Given the description of an element on the screen output the (x, y) to click on. 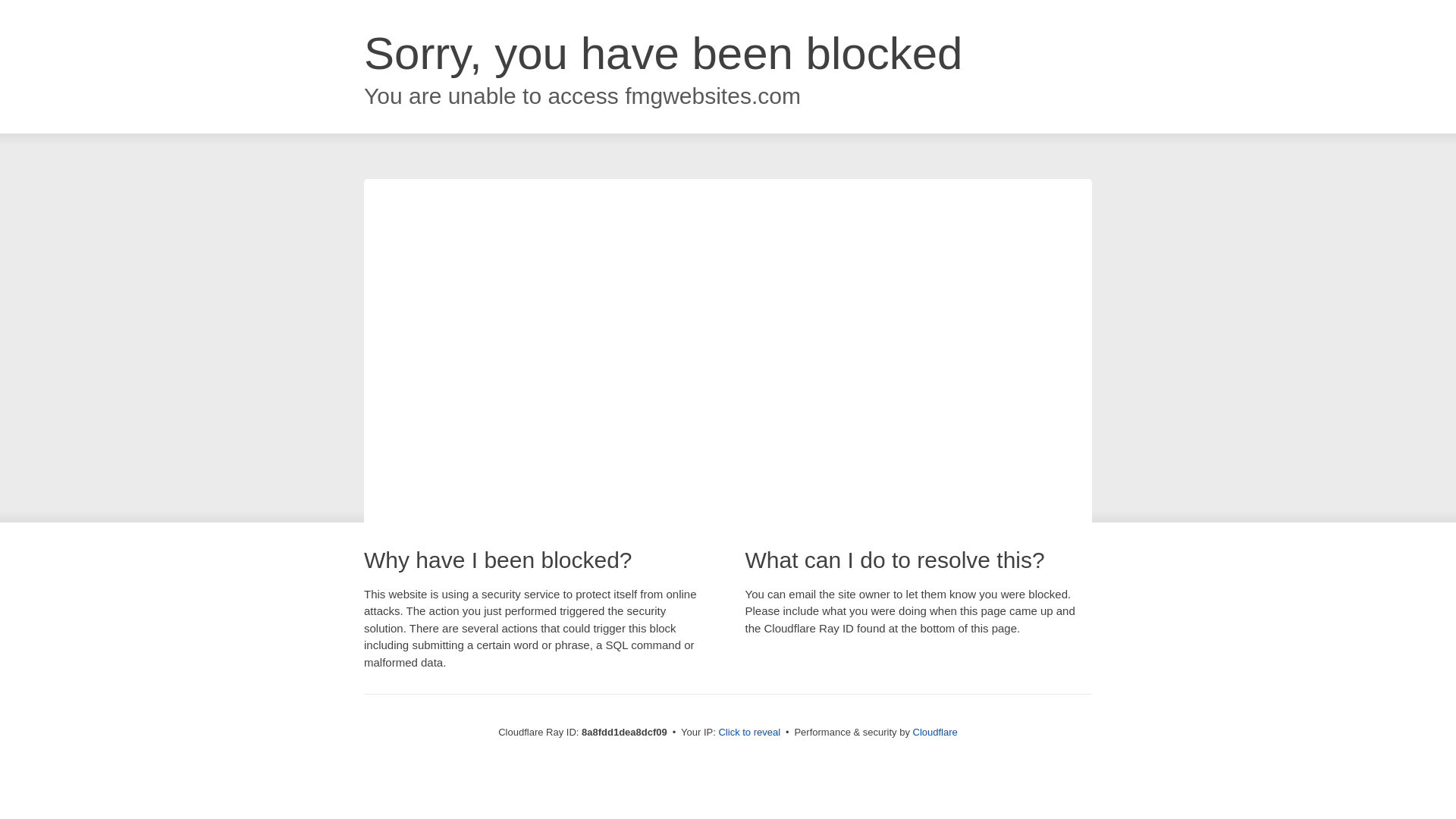
Click to reveal (748, 732)
Cloudflare (935, 731)
